Given the description of an element on the screen output the (x, y) to click on. 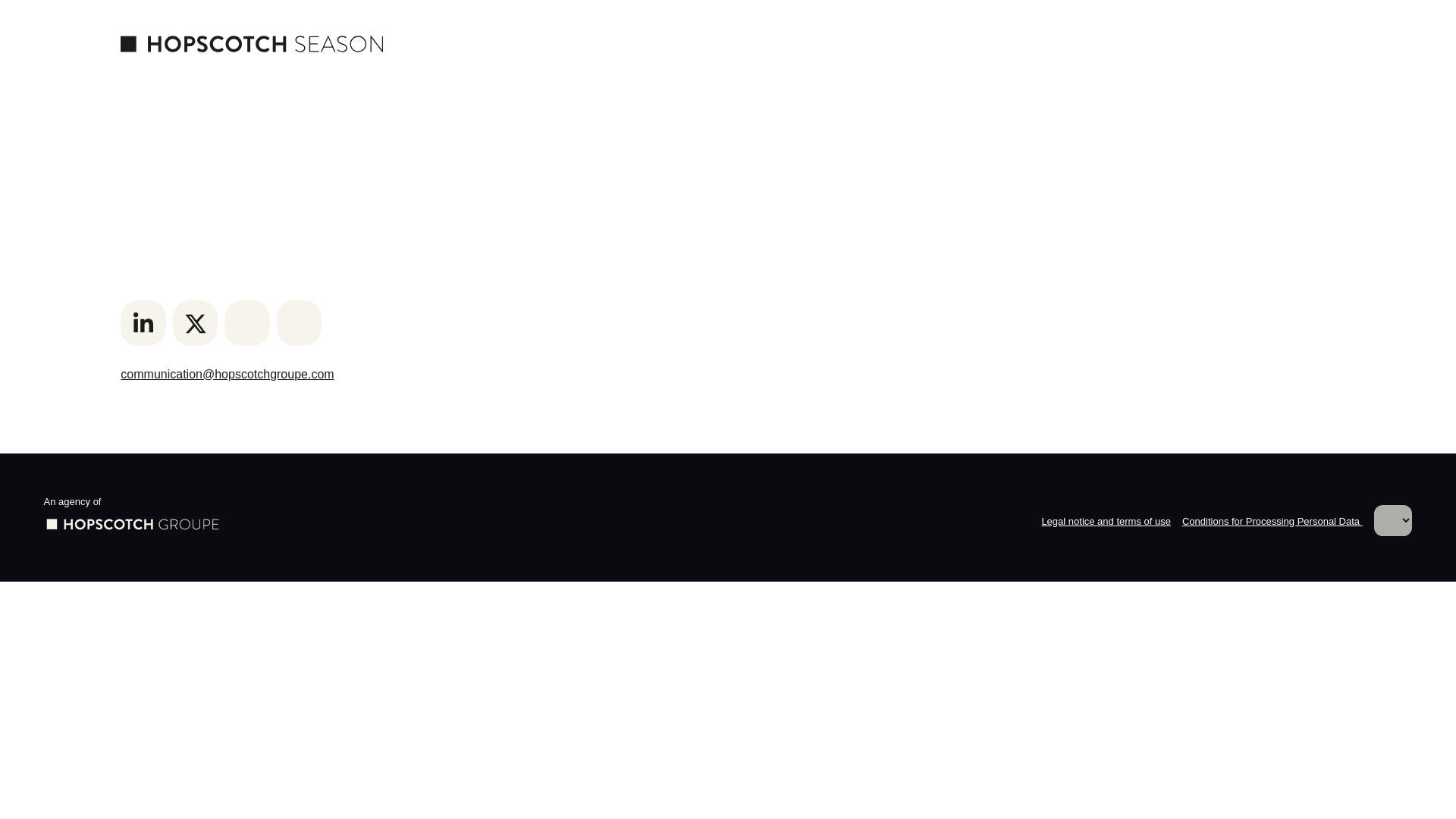
Hopscotch Season (251, 43)
Legal notice and terms of use (1105, 521)
Conditions for Processing Personal Data  (1272, 521)
